Given the description of an element on the screen output the (x, y) to click on. 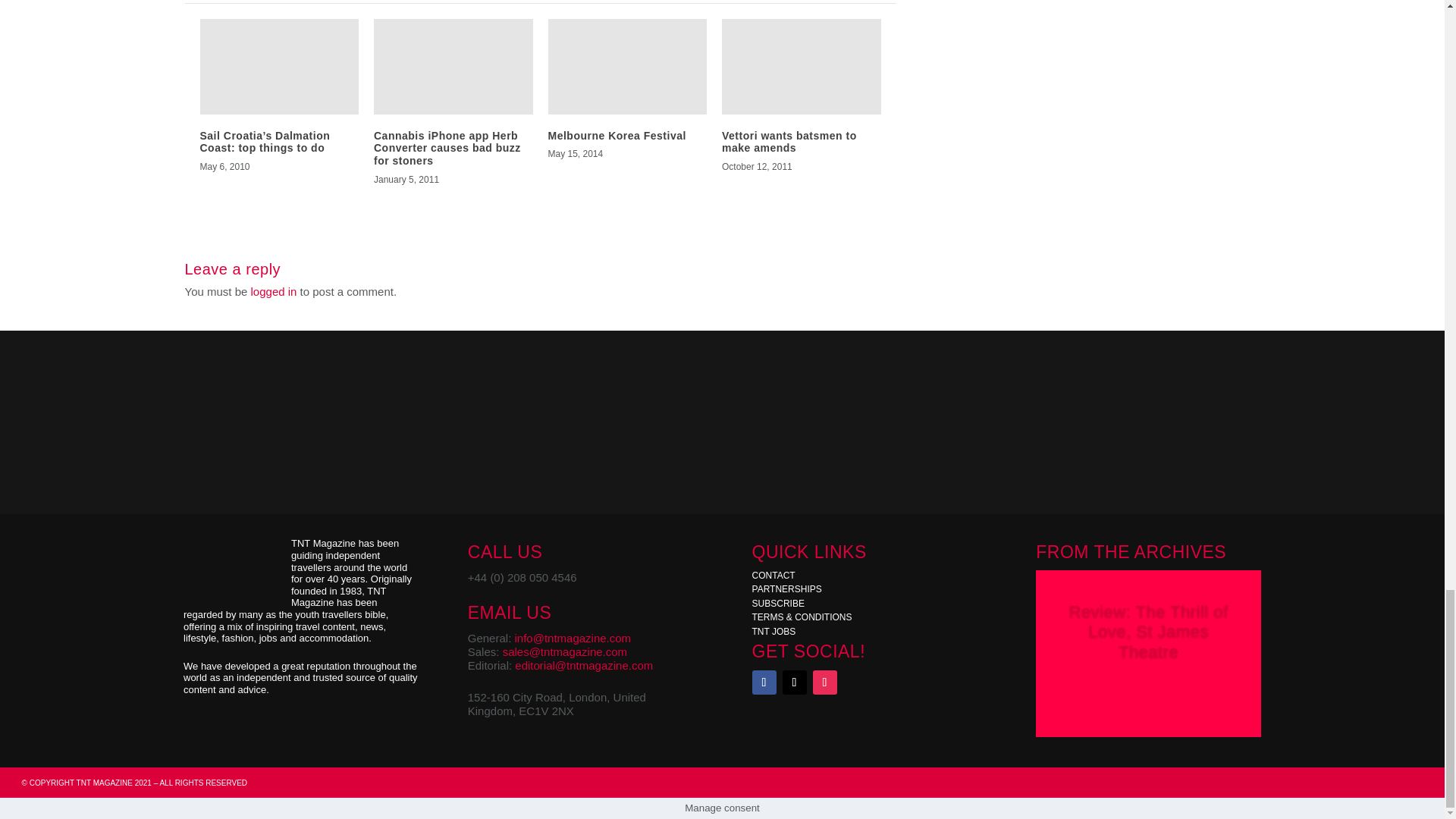
Melbourne Korea Festival (616, 135)
Vettori wants batsmen to make amends (789, 141)
